Given the description of an element on the screen output the (x, y) to click on. 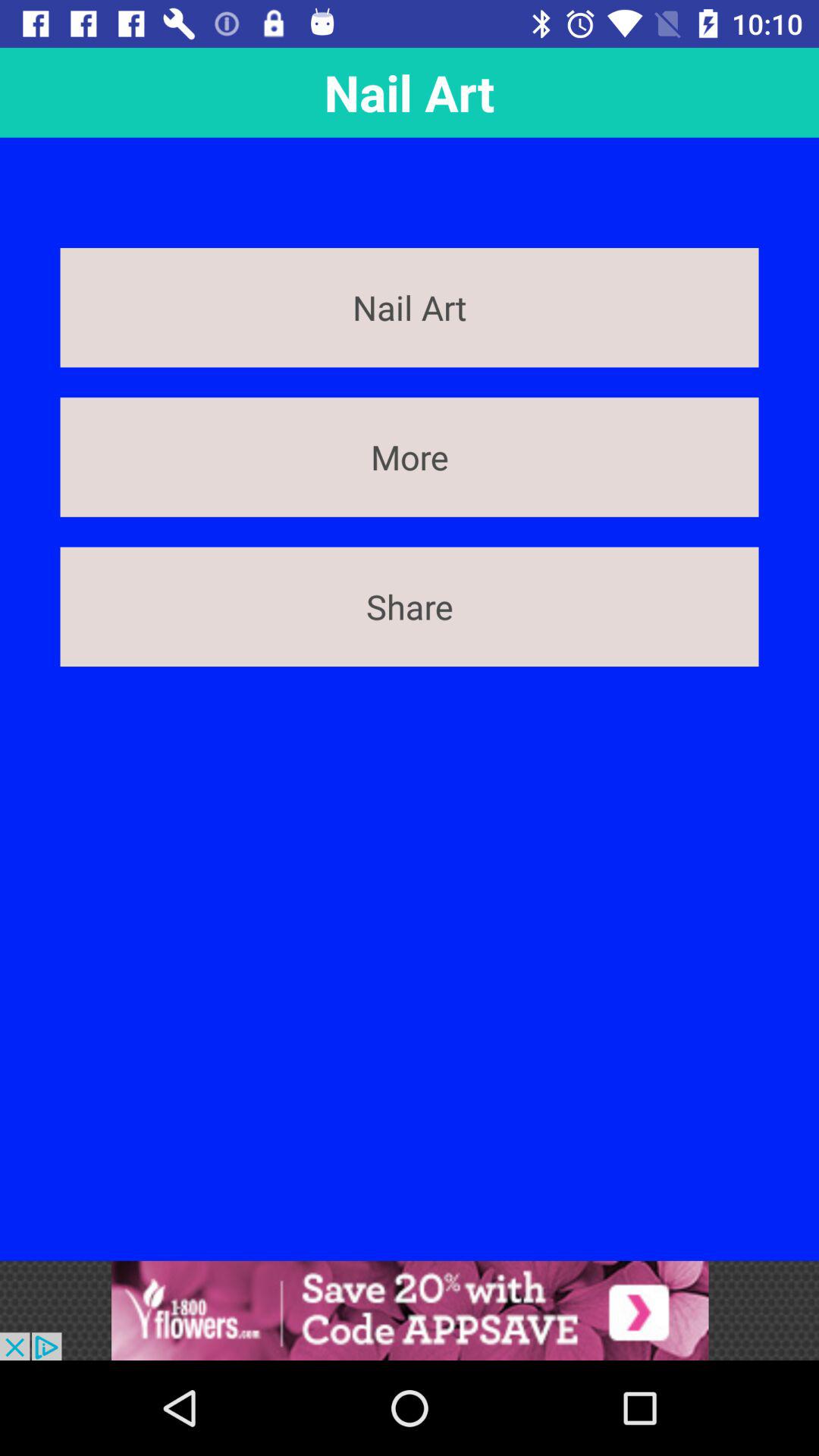
add icon (409, 1310)
